Given the description of an element on the screen output the (x, y) to click on. 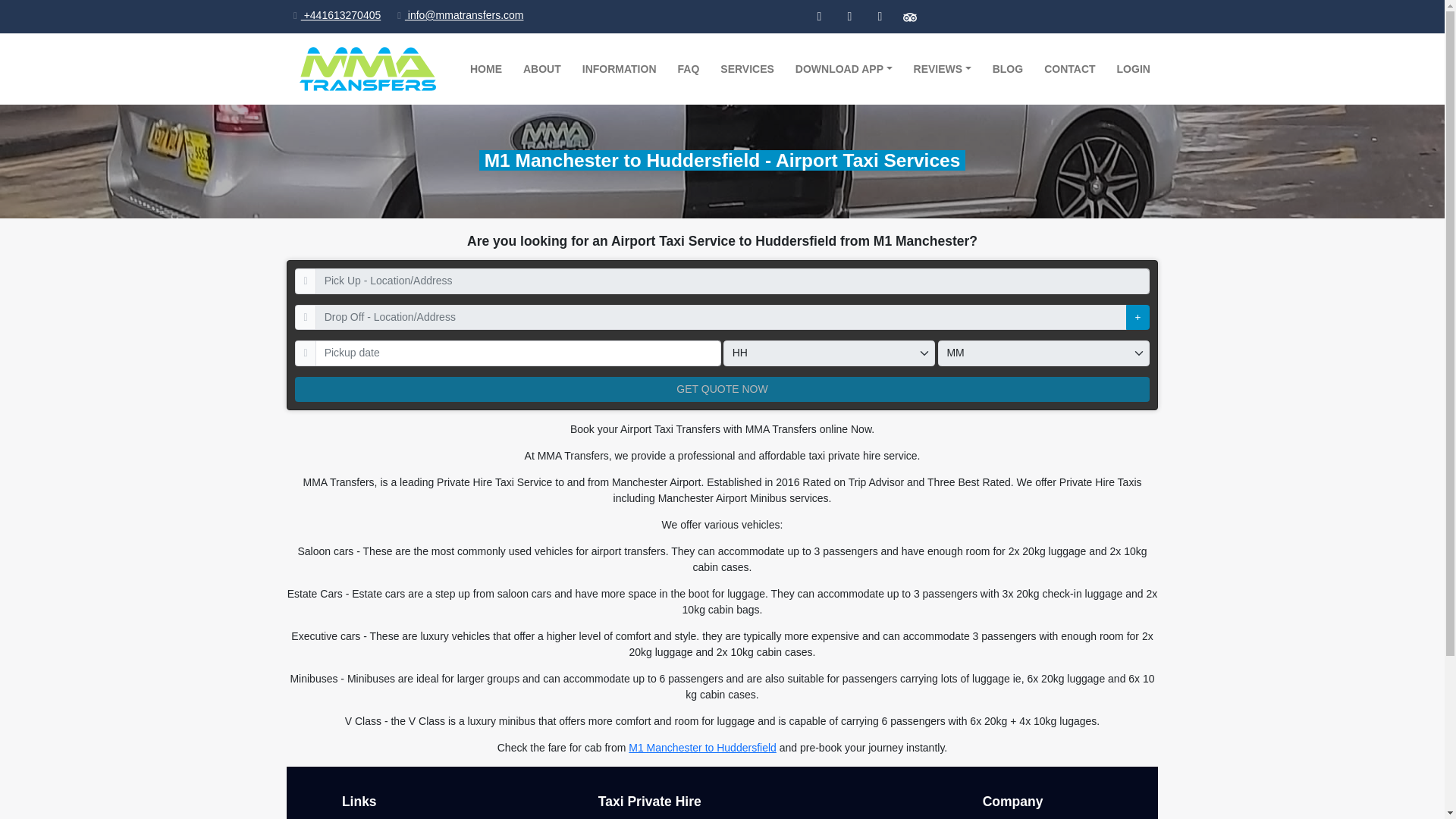
ABOUT (542, 69)
HOME (486, 69)
DOWNLOAD APP (843, 69)
REVIEWS (941, 69)
Blackburn To Derby (548, 816)
FAQ (688, 69)
Blog (1007, 69)
BLOG (1007, 69)
Reviews (941, 69)
SERVICES (747, 69)
GET QUOTE NOW (722, 388)
M1 Manchester to Huddersfield (702, 747)
CONTACT (1069, 69)
L4 Liverpool To Deansgate Manchester (698, 816)
INFORMATION (619, 69)
